Given the description of an element on the screen output the (x, y) to click on. 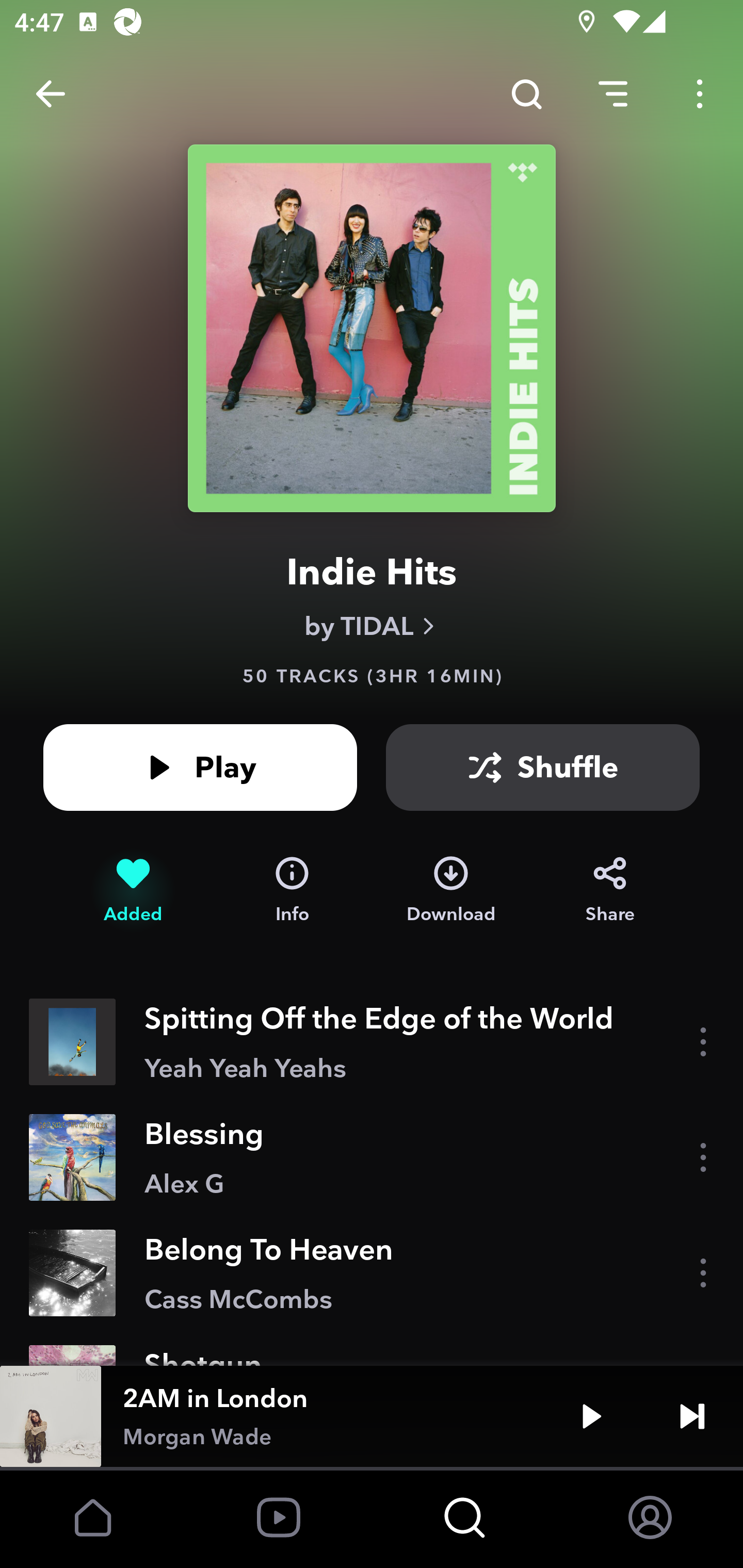
Back (50, 93)
Search (525, 93)
Sorting (612, 93)
Options (699, 93)
by TIDAL (371, 625)
Play (200, 767)
Shuffle (542, 767)
Added (132, 890)
Info (291, 890)
Download (450, 890)
Share (609, 890)
Spitting Off the Edge of the World Yeah Yeah Yeahs (371, 1041)
Blessing Alex G (371, 1157)
Belong To Heaven Cass McCombs (371, 1273)
2AM in London Morgan Wade Play (371, 1416)
Play (590, 1416)
